Given the description of an element on the screen output the (x, y) to click on. 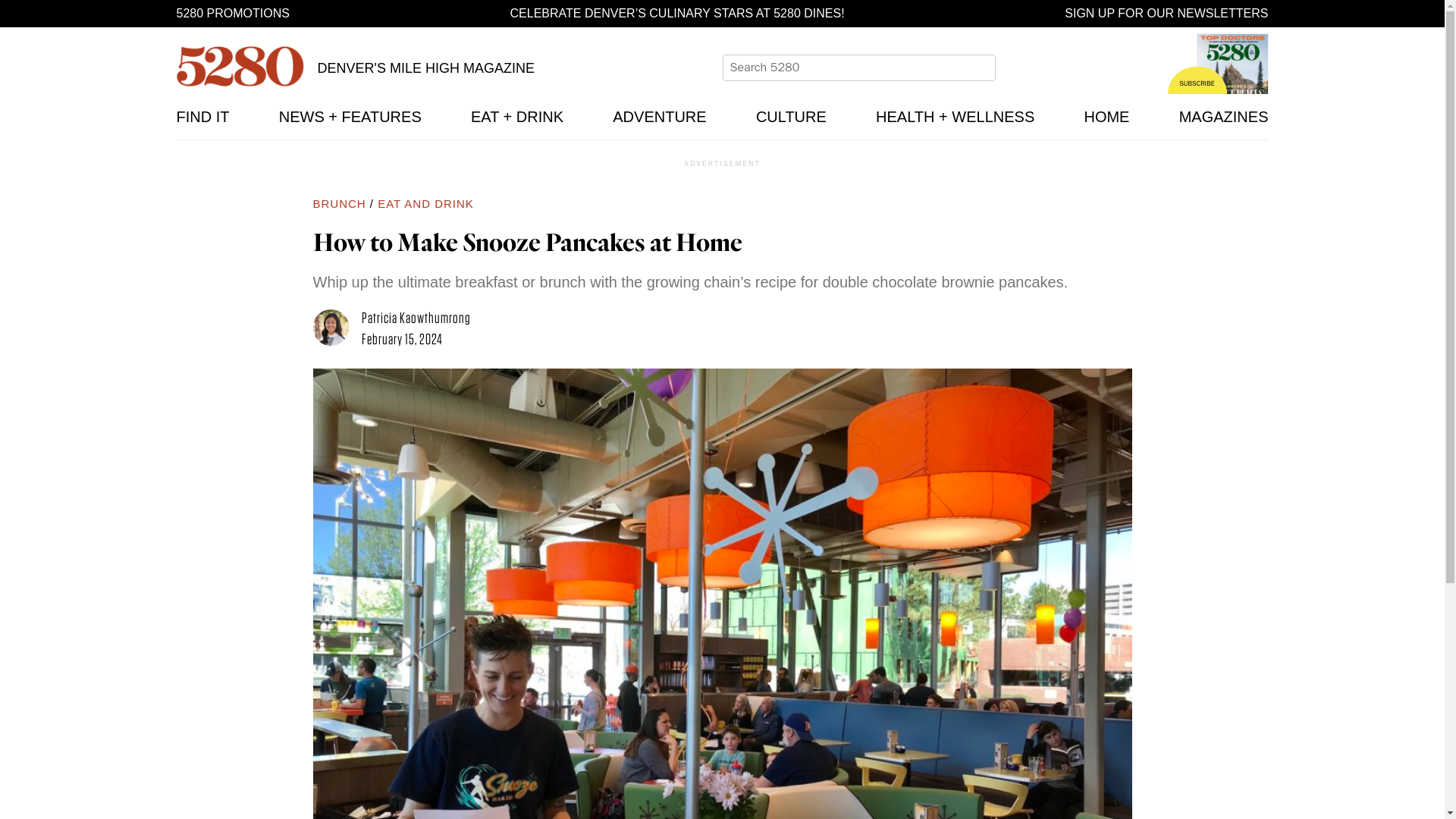
ADVENTURE (659, 116)
Patricia Kaowthumrong's Archive (415, 317)
5280 Magazine (239, 65)
SIGN UP FOR OUR NEWSLETTERS (1166, 13)
SUBSCRIBE (1197, 80)
5280 PROMOTIONS (232, 13)
CULTURE (791, 116)
View Author Archive (337, 328)
FIND IT (202, 116)
